Given the description of an element on the screen output the (x, y) to click on. 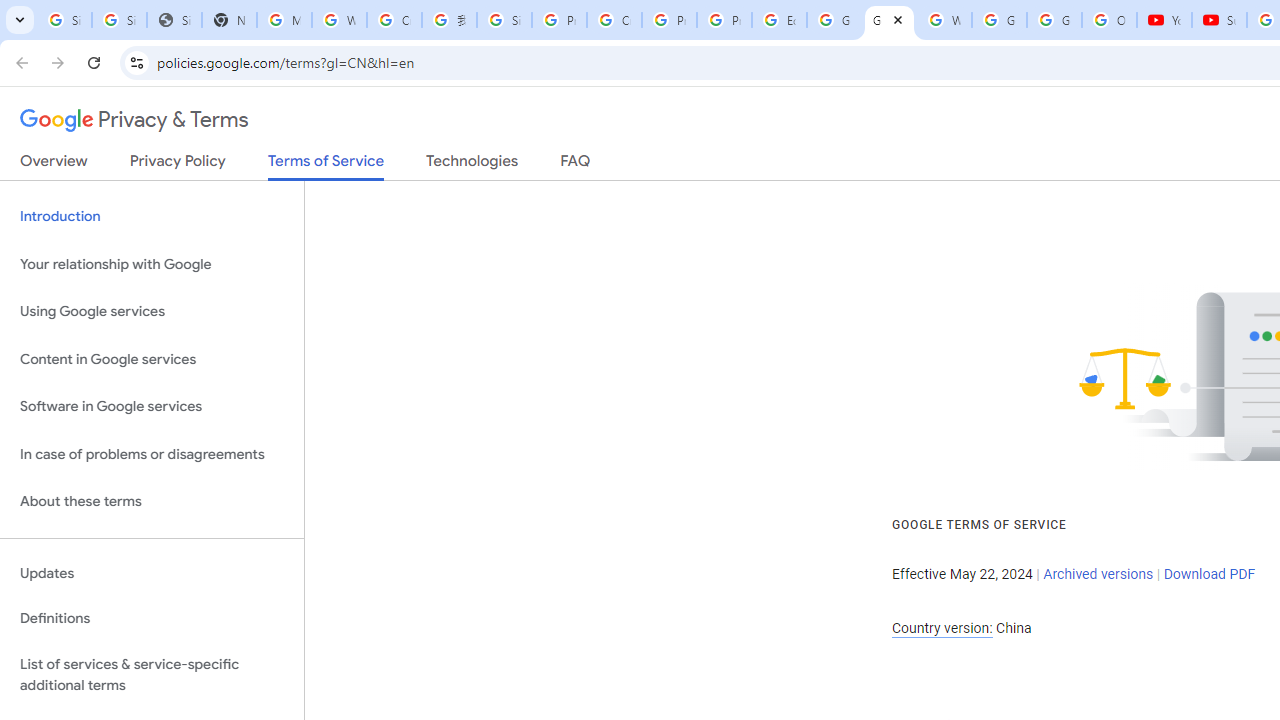
Google Account (1053, 20)
Download PDF (1209, 574)
Sign in - Google Accounts (119, 20)
Software in Google services (152, 407)
New Tab (229, 20)
Edit and view right-to-left text - Google Docs Editors Help (779, 20)
Updates (152, 573)
Google Slides: Sign-in (833, 20)
Welcome to My Activity (943, 20)
List of services & service-specific additional terms (152, 674)
Create your Google Account (614, 20)
Sign In - USA TODAY (174, 20)
